Given the description of an element on the screen output the (x, y) to click on. 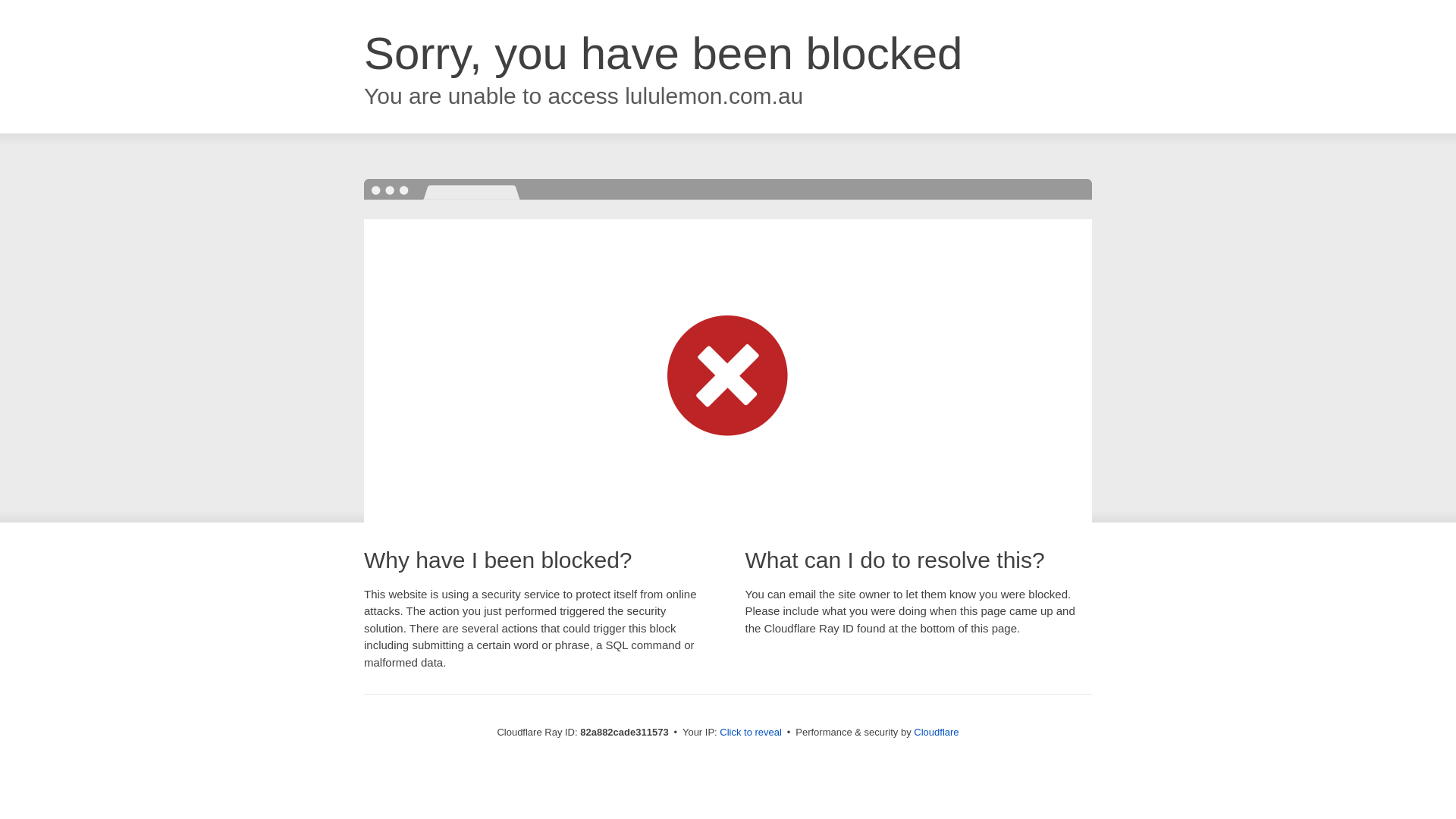
Cloudflare Element type: text (935, 731)
Click to reveal Element type: text (750, 732)
